Given the description of an element on the screen output the (x, y) to click on. 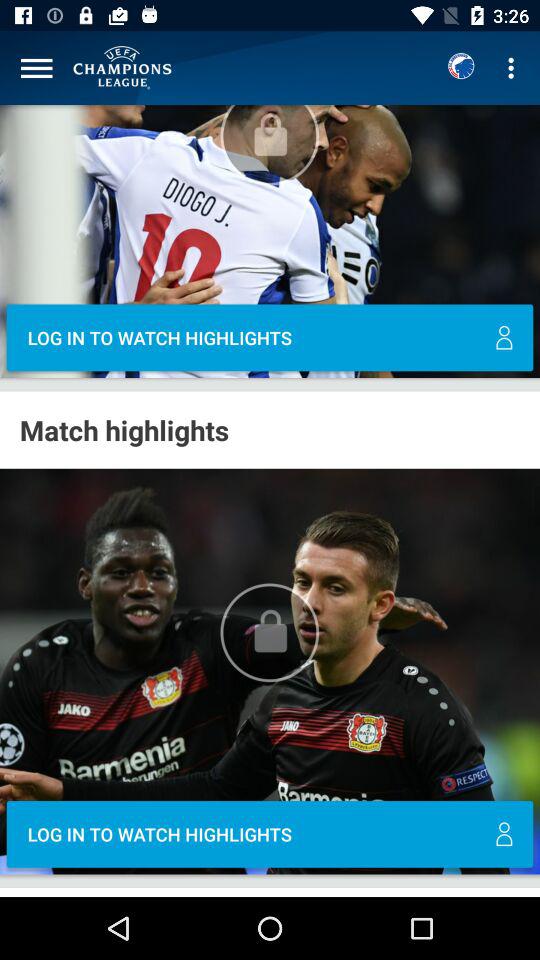
open menu options for this uefa app (36, 68)
